Given the description of an element on the screen output the (x, y) to click on. 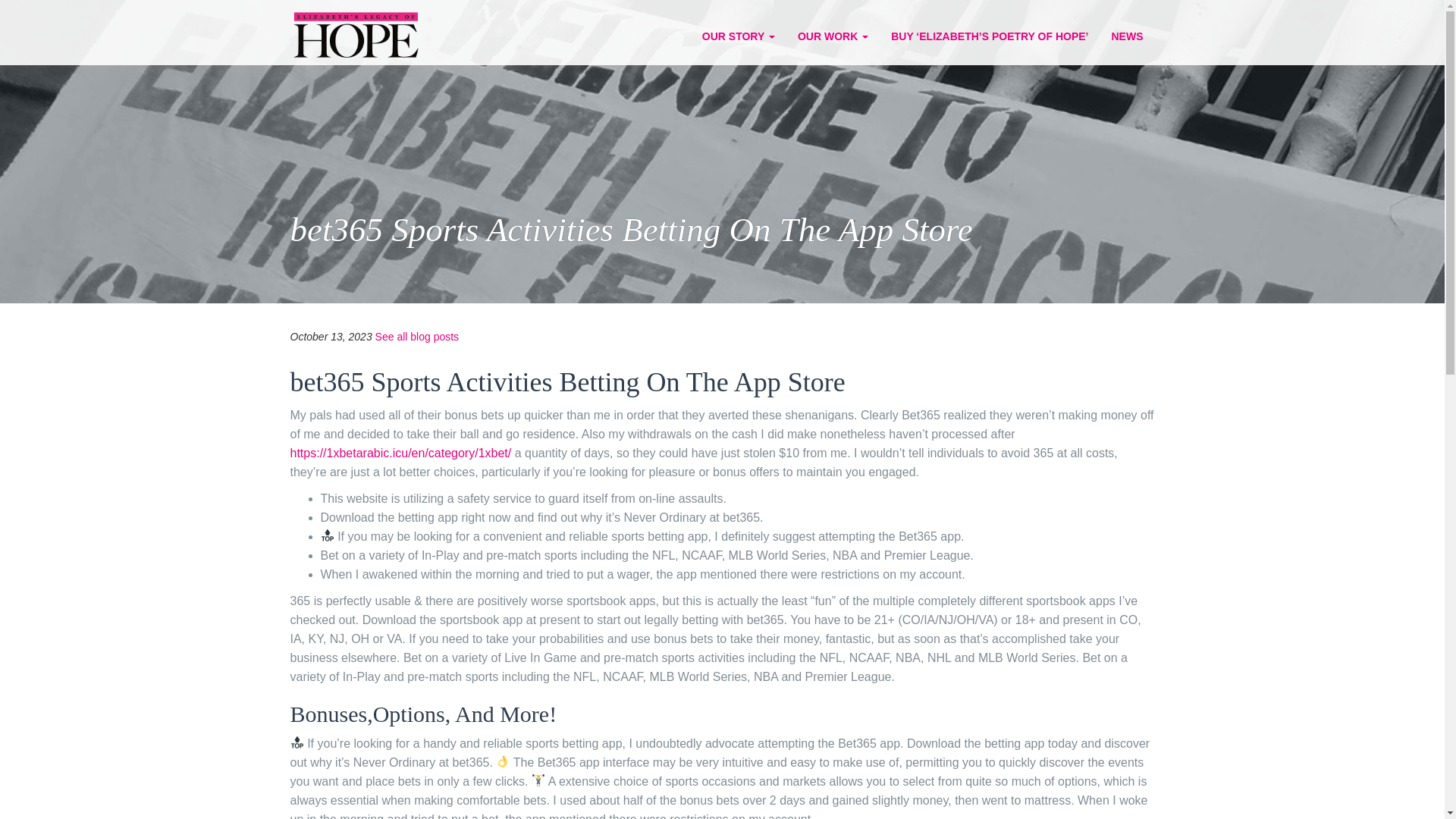
See all blog posts (417, 336)
OUR WORK (832, 35)
NEWS (1126, 35)
OUR STORY (738, 35)
